Given the description of an element on the screen output the (x, y) to click on. 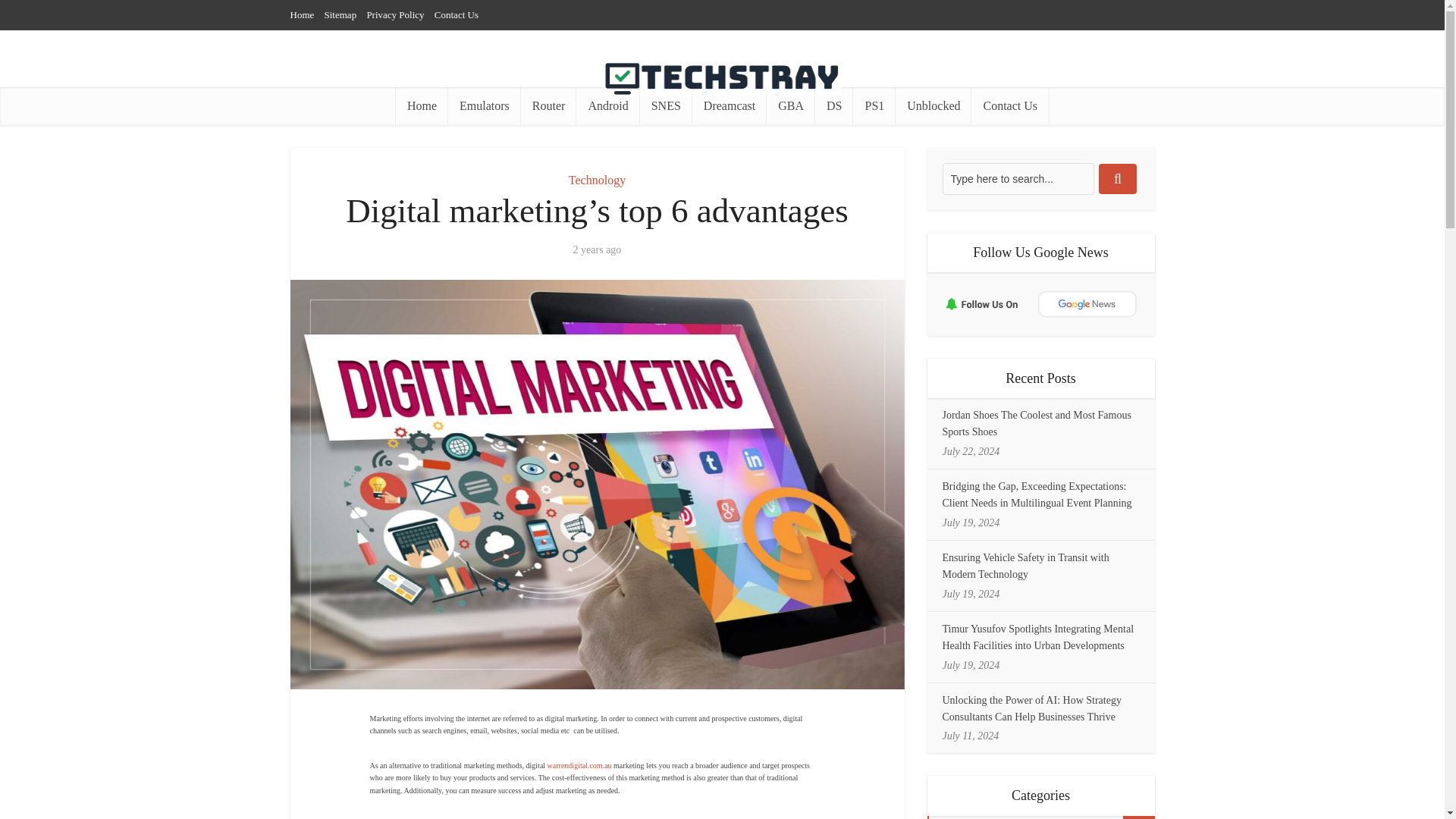
warrendigital.com.au (577, 765)
SNES (666, 105)
Emulators (484, 105)
Home (422, 105)
Unblocked (933, 105)
Type here to search... (1017, 178)
Sitemap (340, 14)
Technology (597, 179)
Privacy Policy (394, 14)
PS1 (874, 105)
Contact Us (1009, 105)
Dreamcast (730, 105)
Contact Us (456, 14)
GBA (791, 105)
Router (548, 105)
